Given the description of an element on the screen output the (x, y) to click on. 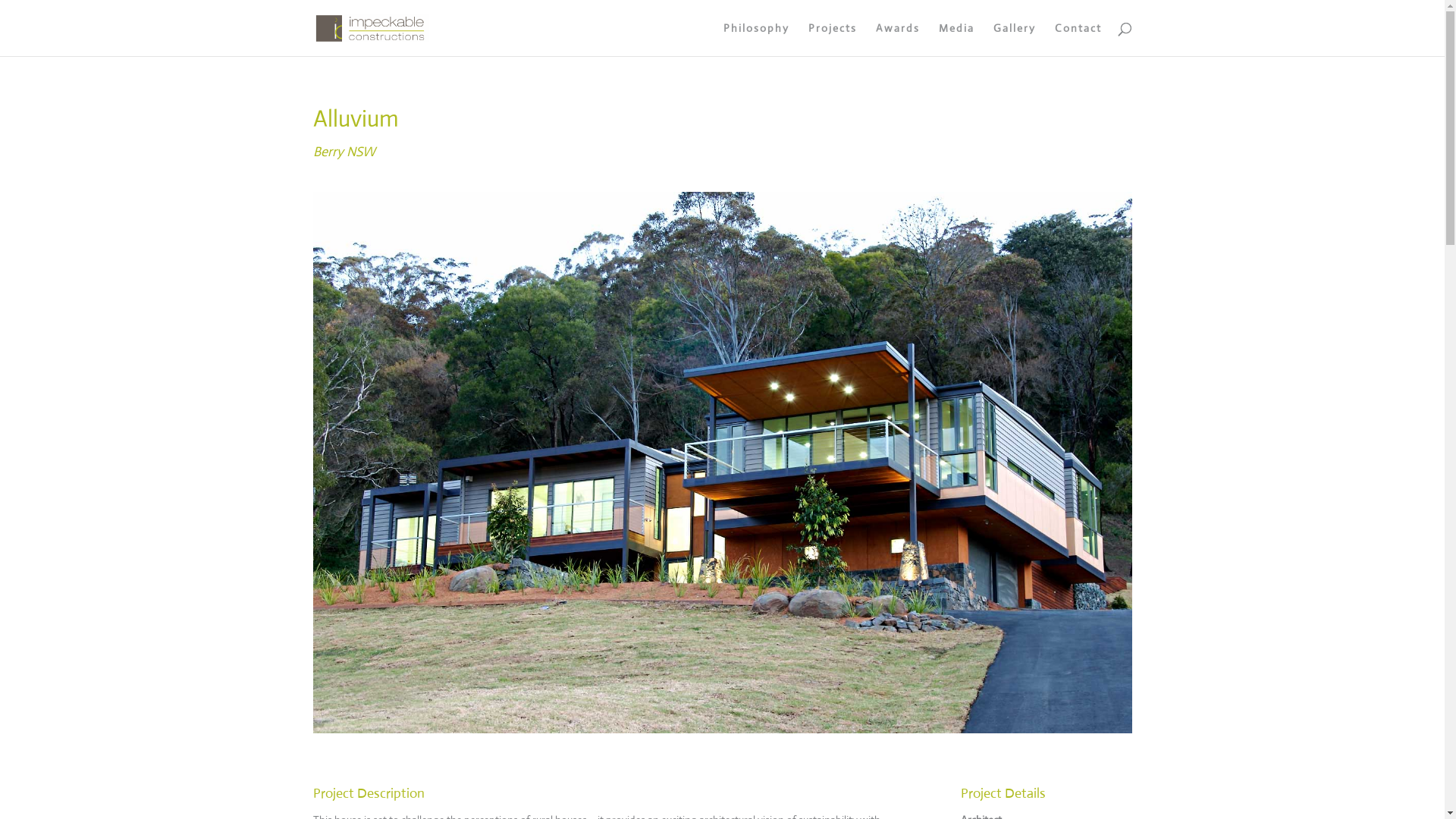
Gallery Element type: text (1014, 39)
Media Element type: text (956, 39)
Projects Element type: text (832, 39)
Philosophy Element type: text (756, 39)
Contact Element type: text (1077, 39)
Awards Element type: text (897, 39)
